Given the description of an element on the screen output the (x, y) to click on. 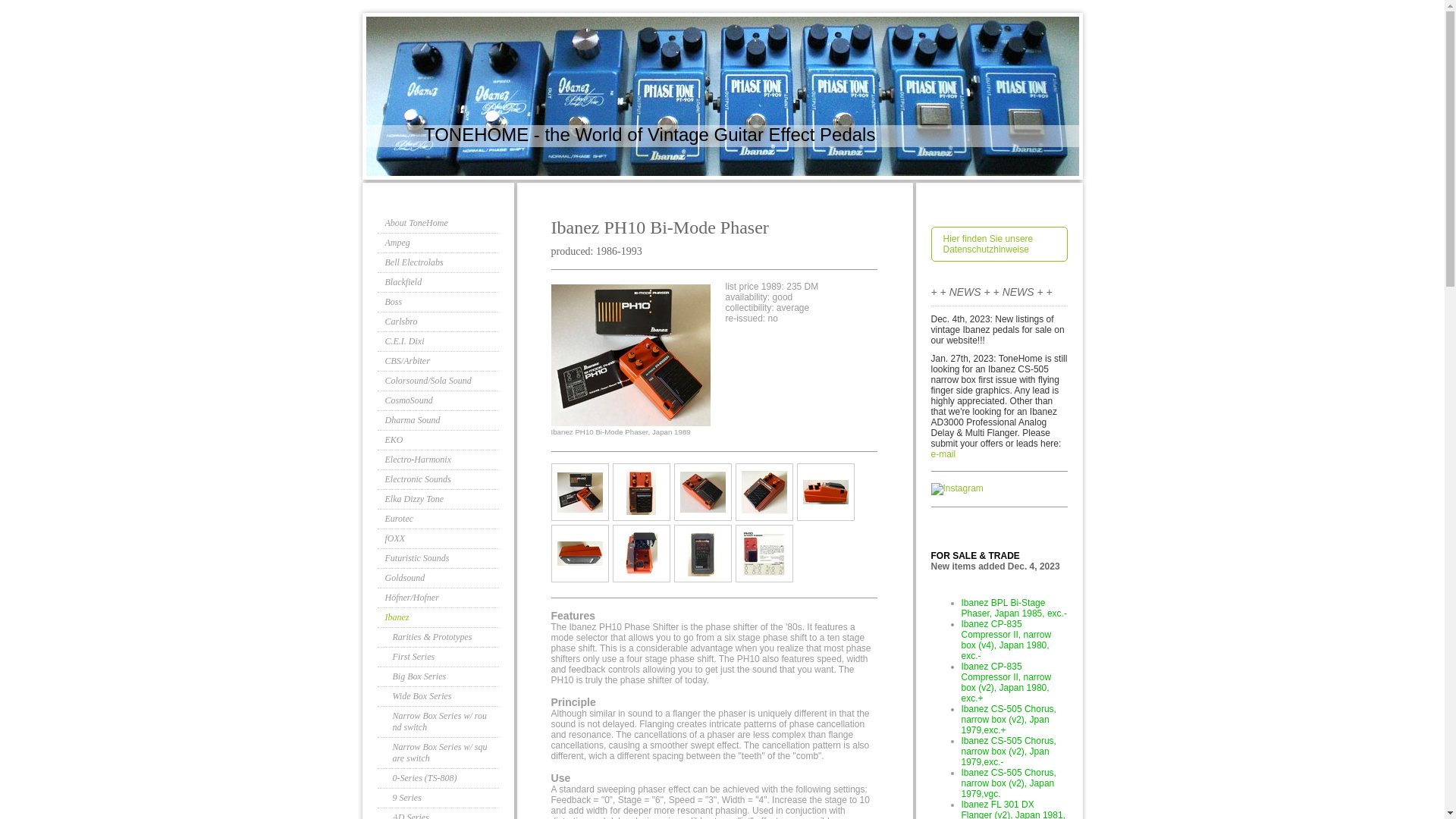
1990 catalog: Ibanez PH10 Bi-Mode Phase (763, 553)
Futuristic Sounds (438, 558)
AD Series (438, 813)
Ibanez PH10 Bi-Mode Phaser, Japan 1989 (579, 491)
Ibanez (438, 618)
Bell Electrolabs (438, 262)
Ibanez PH10 Bi-Mode Phaser, Japan 1989 (824, 491)
Ibanez PH10 Bi-Mode Phaser, Japan 1989 (764, 491)
About ToneHome (438, 223)
9 Series (438, 798)
